Given the description of an element on the screen output the (x, y) to click on. 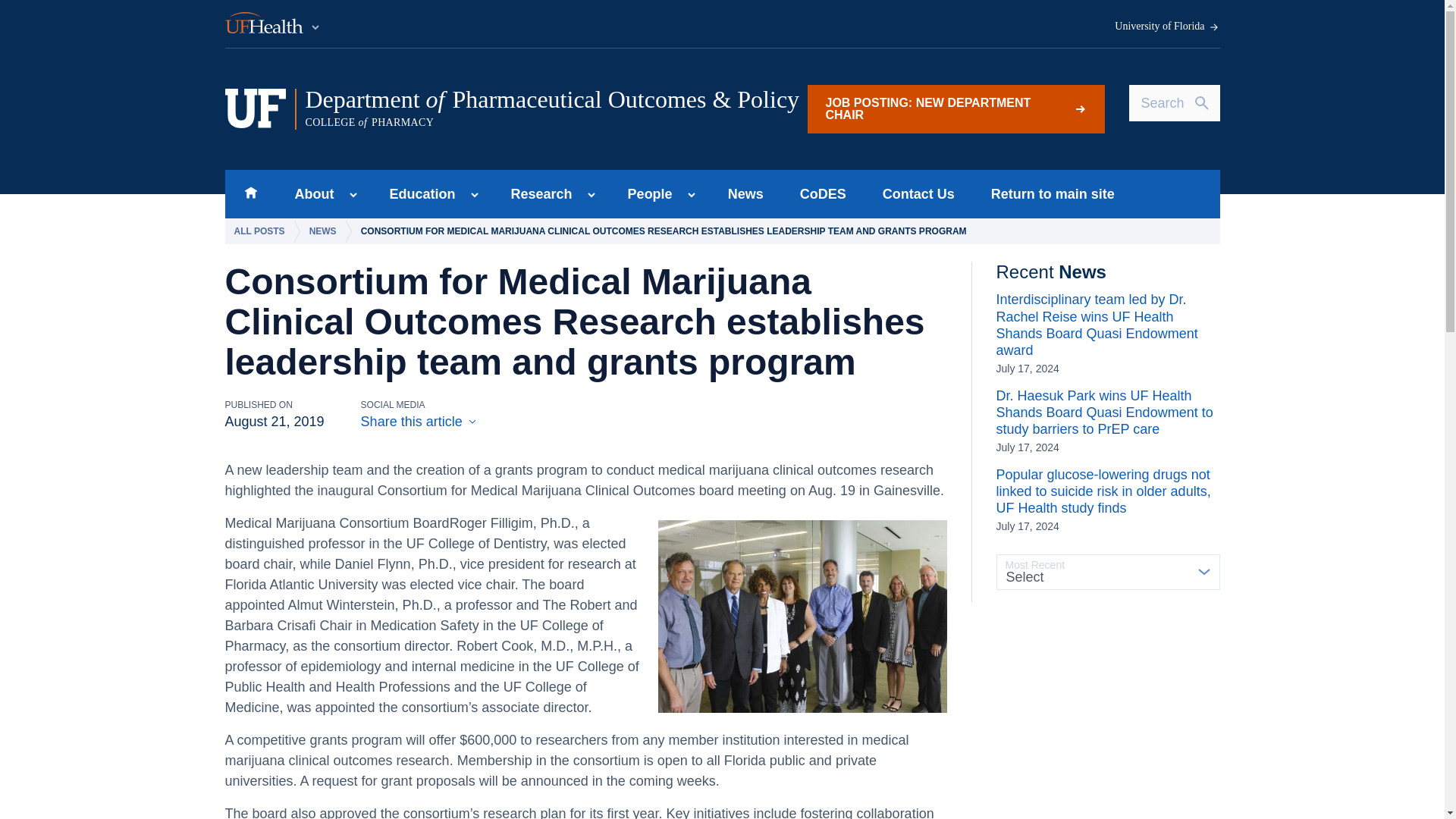
About (309, 193)
Home (250, 193)
Research (536, 193)
University of Florida (1167, 26)
UF Health (272, 24)
JOB POSTING: NEW DEPARTMENT CHAIR (954, 109)
Education (417, 193)
